Given the description of an element on the screen output the (x, y) to click on. 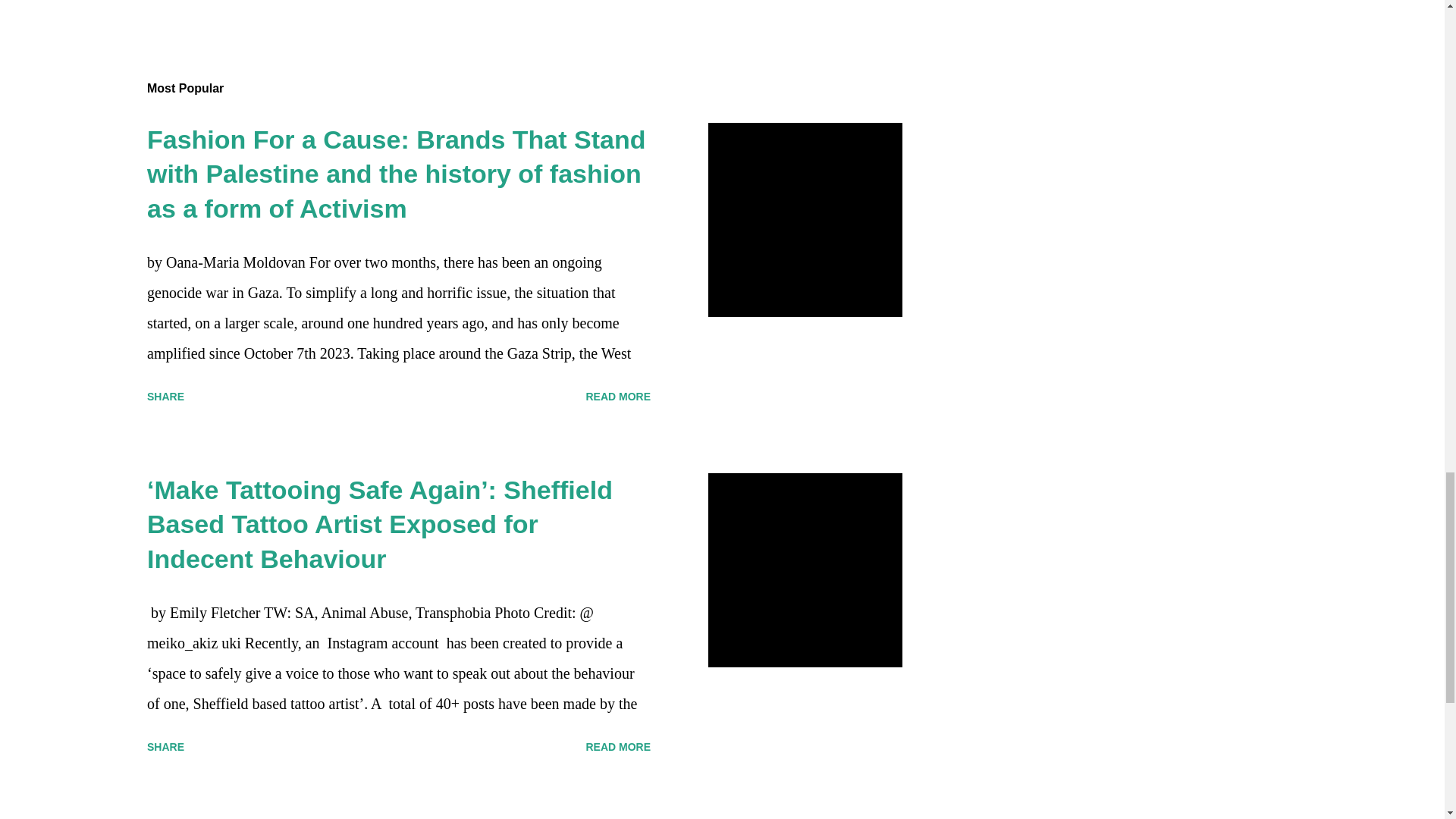
READ MORE (617, 746)
SHARE (165, 396)
SHARE (810, 1)
READ MORE (617, 396)
SHARE (165, 746)
